Given the description of an element on the screen output the (x, y) to click on. 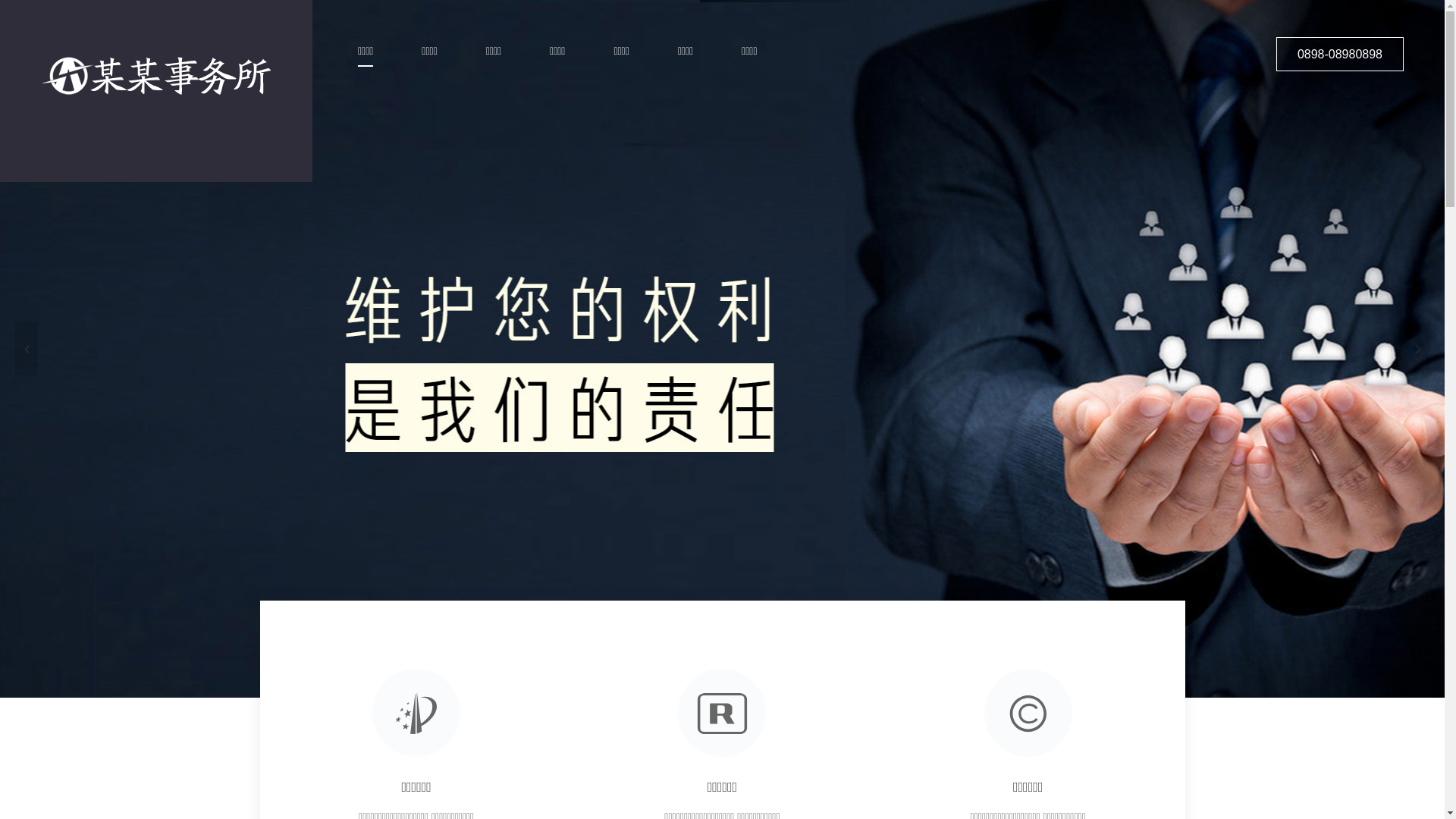
1 Element type: text (711, 686)
2 Element type: text (730, 686)
Previous Element type: text (26, 348)
Next Element type: text (1417, 348)
